Given the description of an element on the screen output the (x, y) to click on. 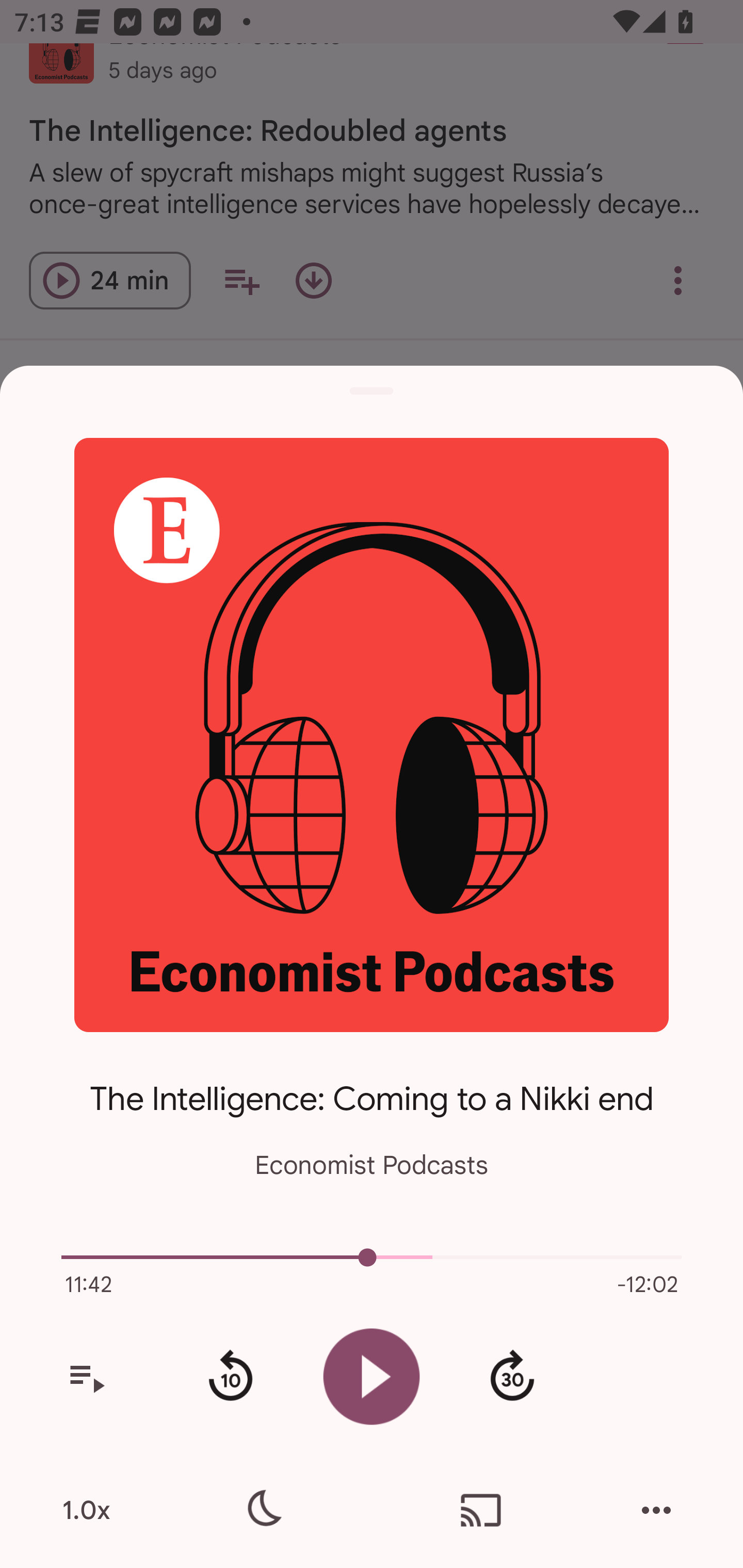
Open the show page for Economist Podcasts (371, 734)
4928.0 Current episode playback (371, 1257)
Play (371, 1376)
View your queue (86, 1376)
Rewind 10 seconds (230, 1376)
Fast forward 30 second (511, 1376)
1.0x Playback speed is 1.0. (86, 1510)
Sleep timer settings (261, 1510)
Cast. Disconnected (480, 1510)
More actions (655, 1510)
